Given the description of an element on the screen output the (x, y) to click on. 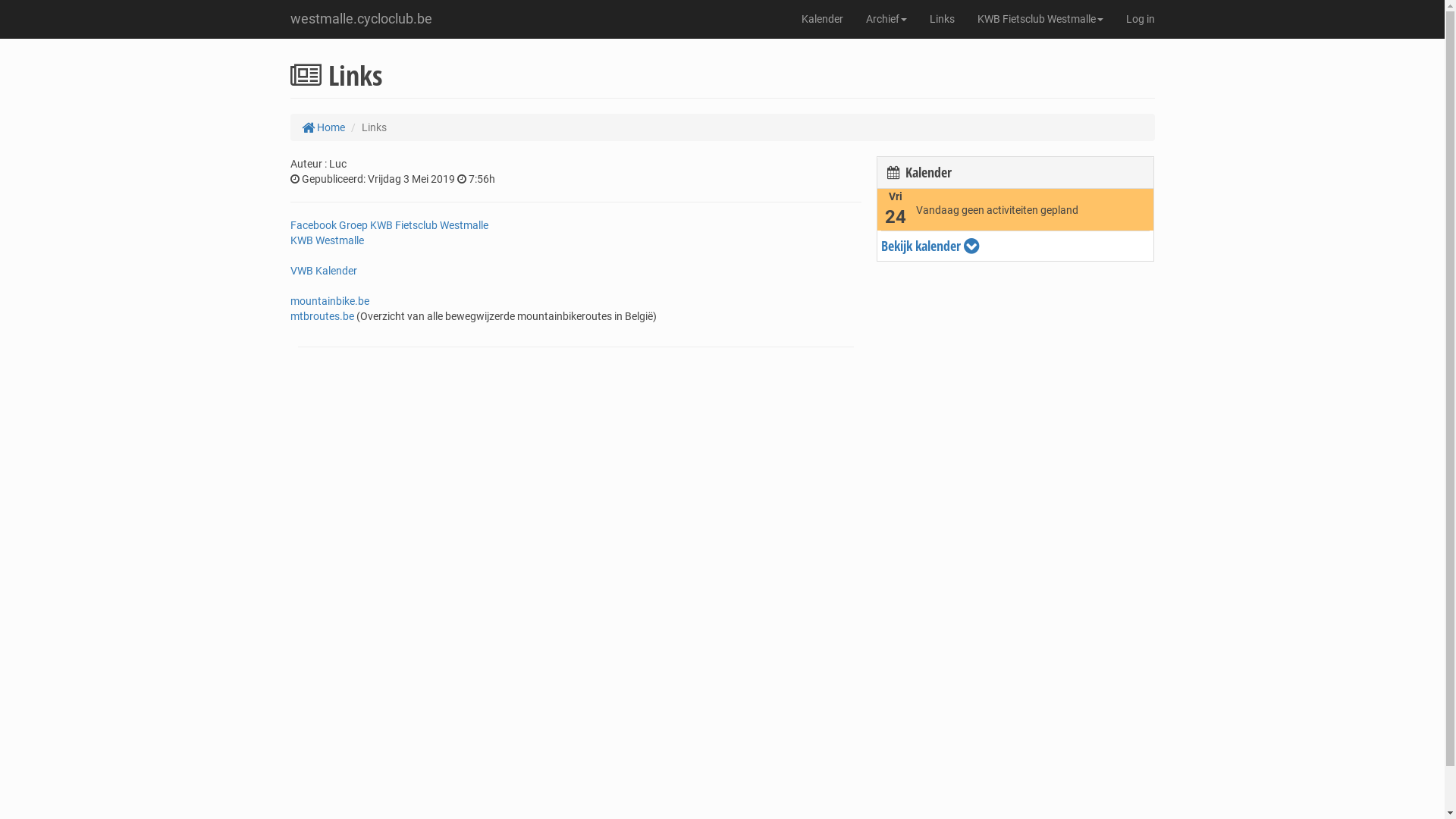
westmalle.cycloclub.be Element type: text (361, 18)
mountainbike.be Element type: text (328, 300)
Links Element type: text (941, 18)
Log in Element type: text (1140, 18)
Facebook Groep KWB Fietsclub Westmalle Element type: text (388, 225)
KWB Westmalle Element type: text (326, 240)
Archief Element type: text (885, 18)
Home Element type: text (323, 127)
mtbroutes.be Element type: text (321, 316)
Kalender Element type: text (822, 18)
Bekijk kalender Element type: text (1015, 246)
KWB Fietsclub Westmalle Element type: text (1040, 18)
VWB Kalender Element type: text (322, 270)
